Given the description of an element on the screen output the (x, y) to click on. 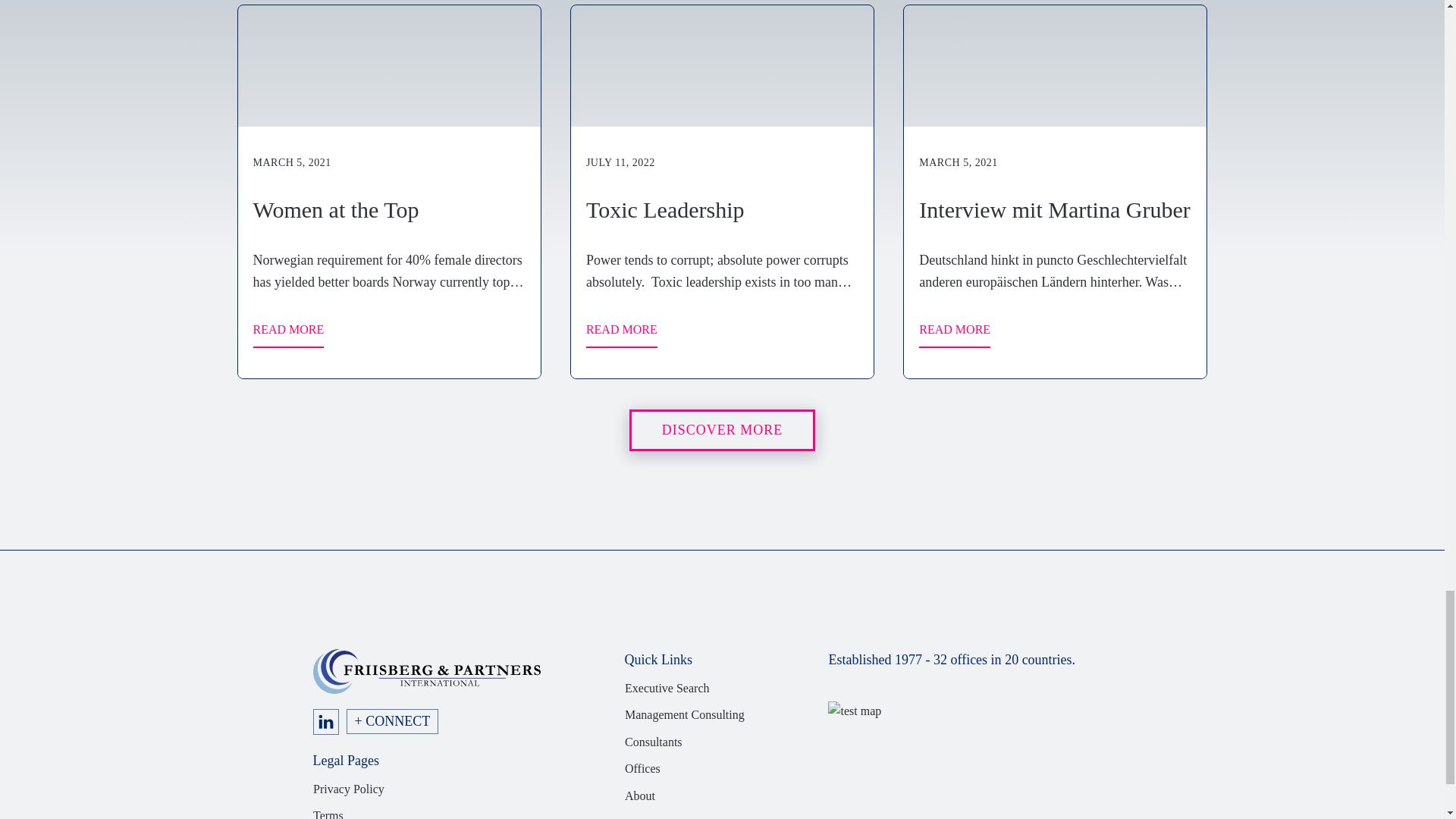
Privacy Policy (348, 789)
DISCOVER MORE (721, 430)
Terms (327, 812)
Executive Search (667, 688)
